Given the description of an element on the screen output the (x, y) to click on. 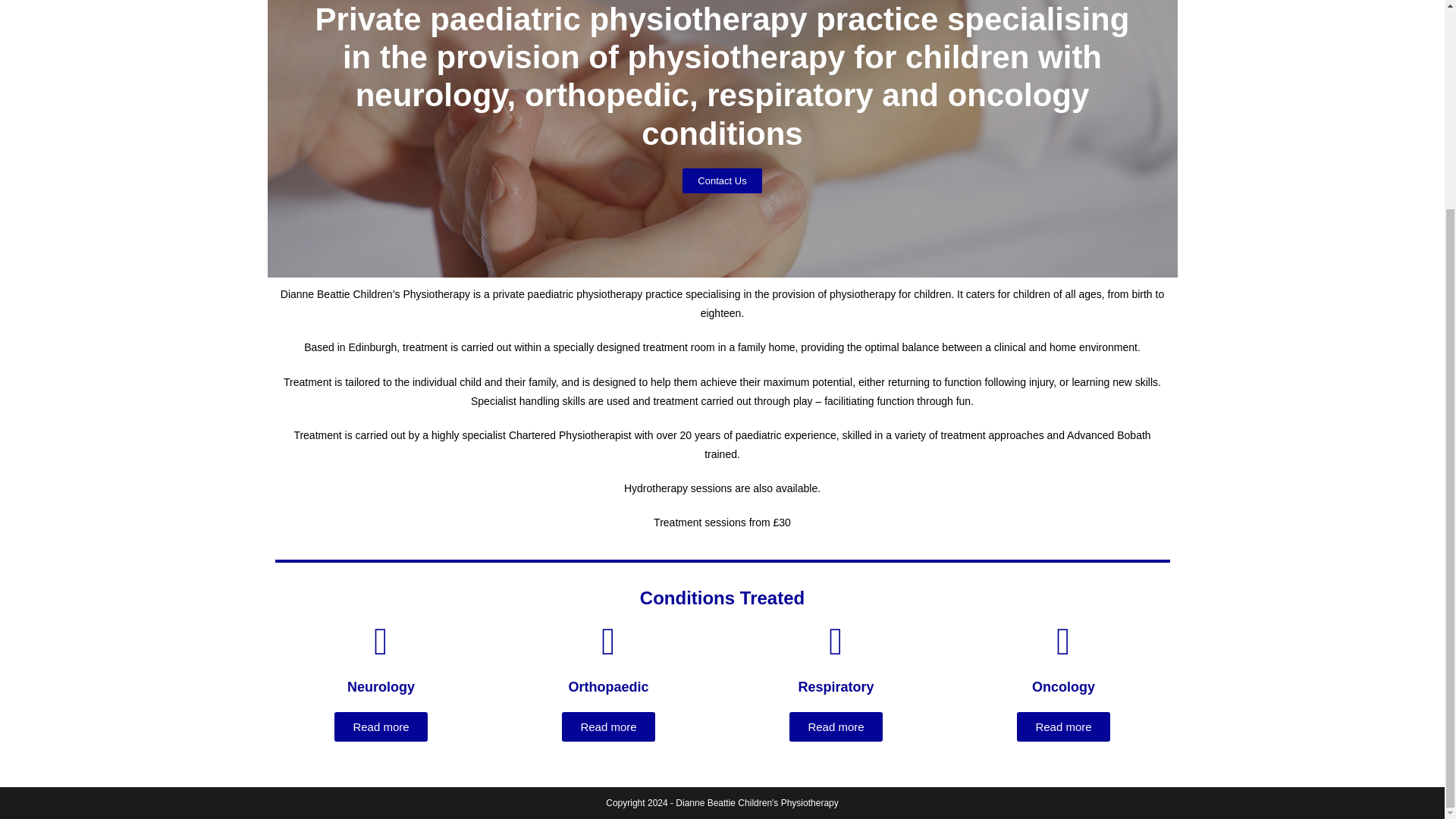
Read more (1062, 726)
Read more (607, 726)
Contact Us (721, 180)
Read more (380, 726)
Read more (835, 726)
